Given the description of an element on the screen output the (x, y) to click on. 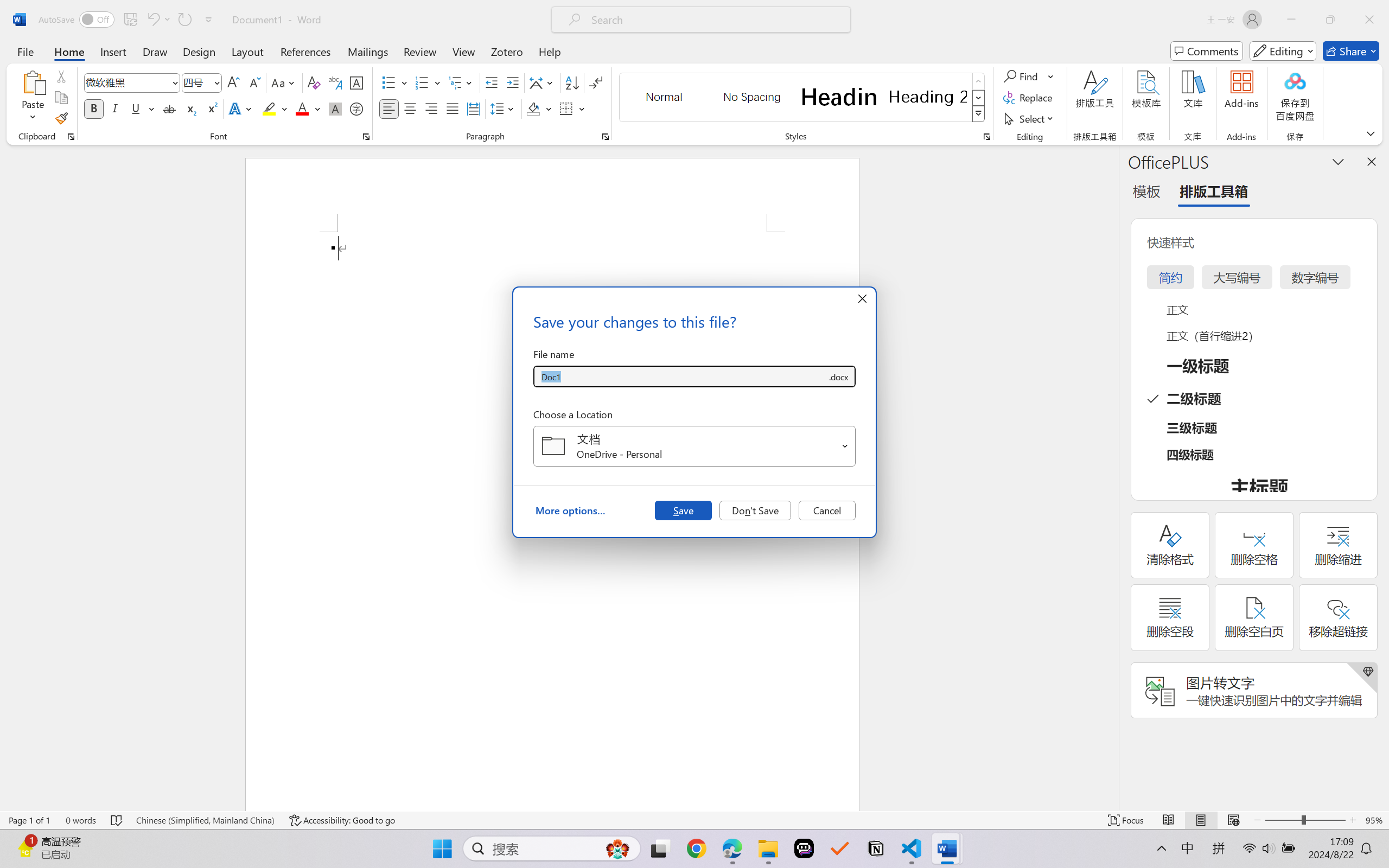
Cancel (826, 509)
